Given the description of an element on the screen output the (x, y) to click on. 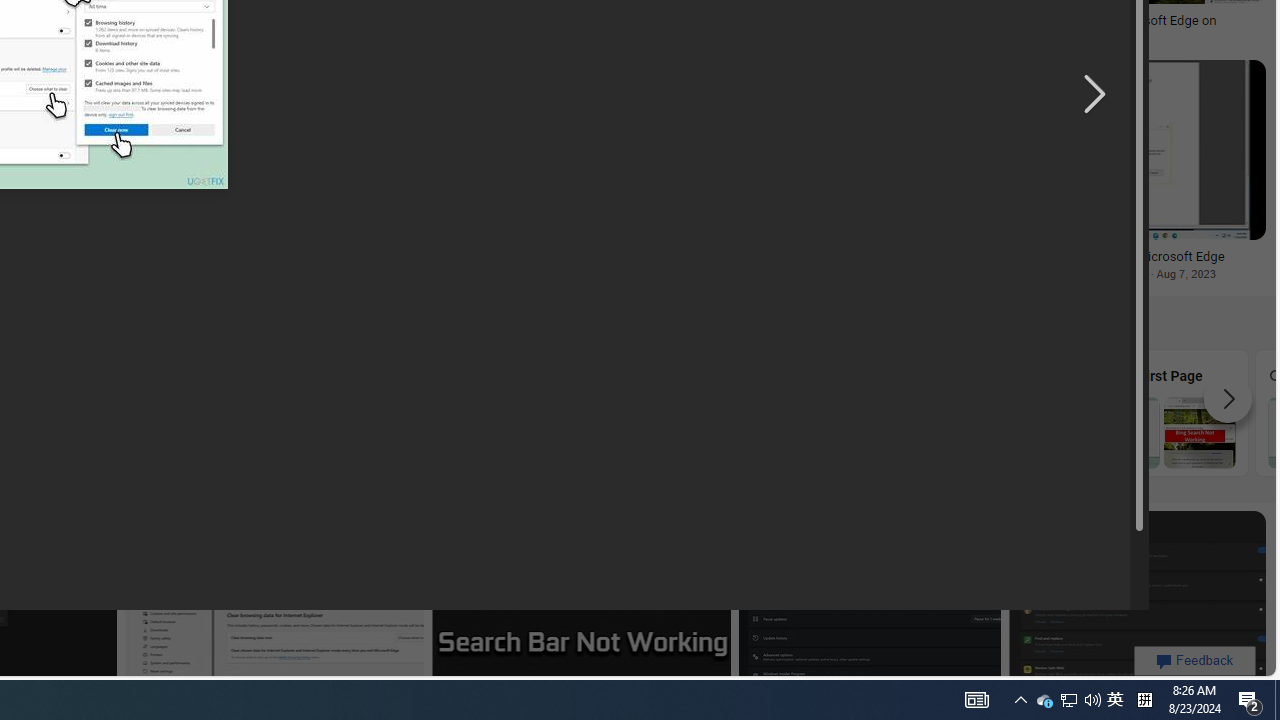
Work (981, 412)
Why First Page of Bing Search Not Working (1162, 432)
Bing Search Engine Not Working (802, 432)
Bing Search Bar Not Working Bar (621, 412)
Bing Work Search Not Working (981, 432)
Bing Search Engine Not Working Engine (801, 412)
Engine (801, 412)
